Given the description of an element on the screen output the (x, y) to click on. 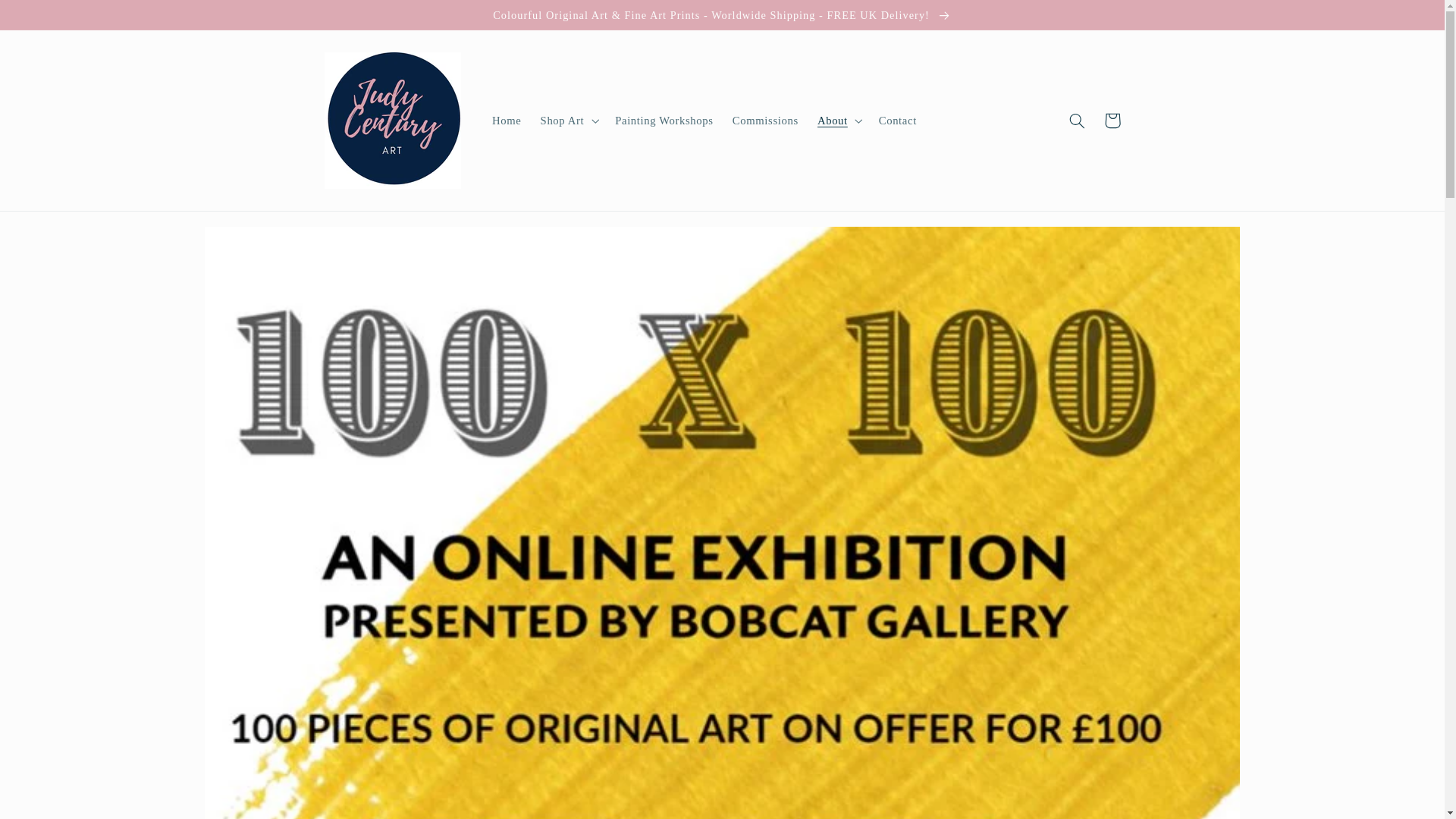
Commissions (765, 120)
Painting Workshops (664, 120)
Contact (897, 120)
Home (506, 120)
Skip to content (48, 18)
Cart (1111, 120)
